Given the description of an element on the screen output the (x, y) to click on. 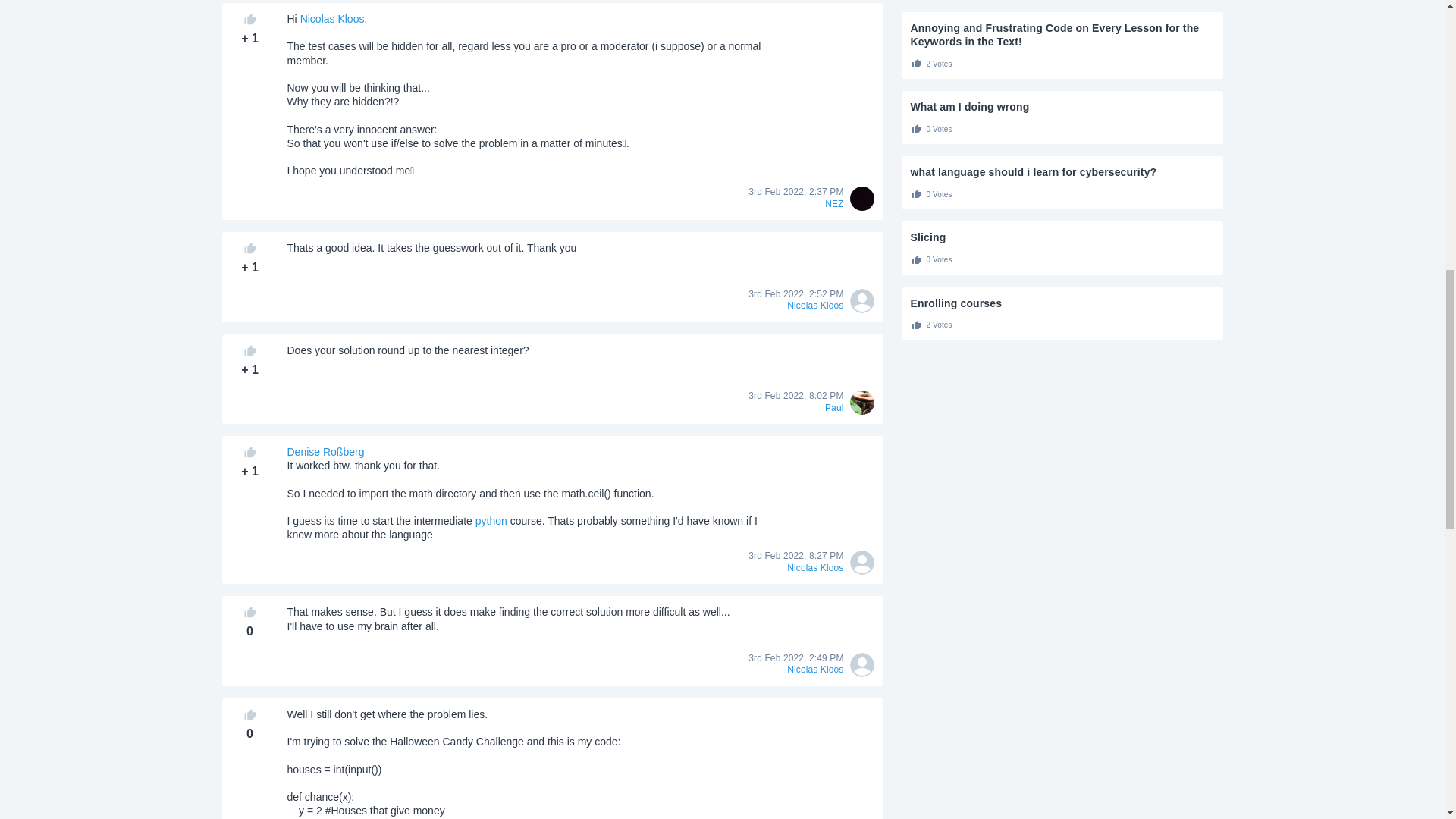
Slicing (1061, 237)
what language should i learn for cybersecurity? (1061, 172)
python (491, 521)
Enrolling courses (1061, 303)
Nicolas Kloos (332, 19)
What am I doing wrong (1061, 106)
